Given the description of an element on the screen output the (x, y) to click on. 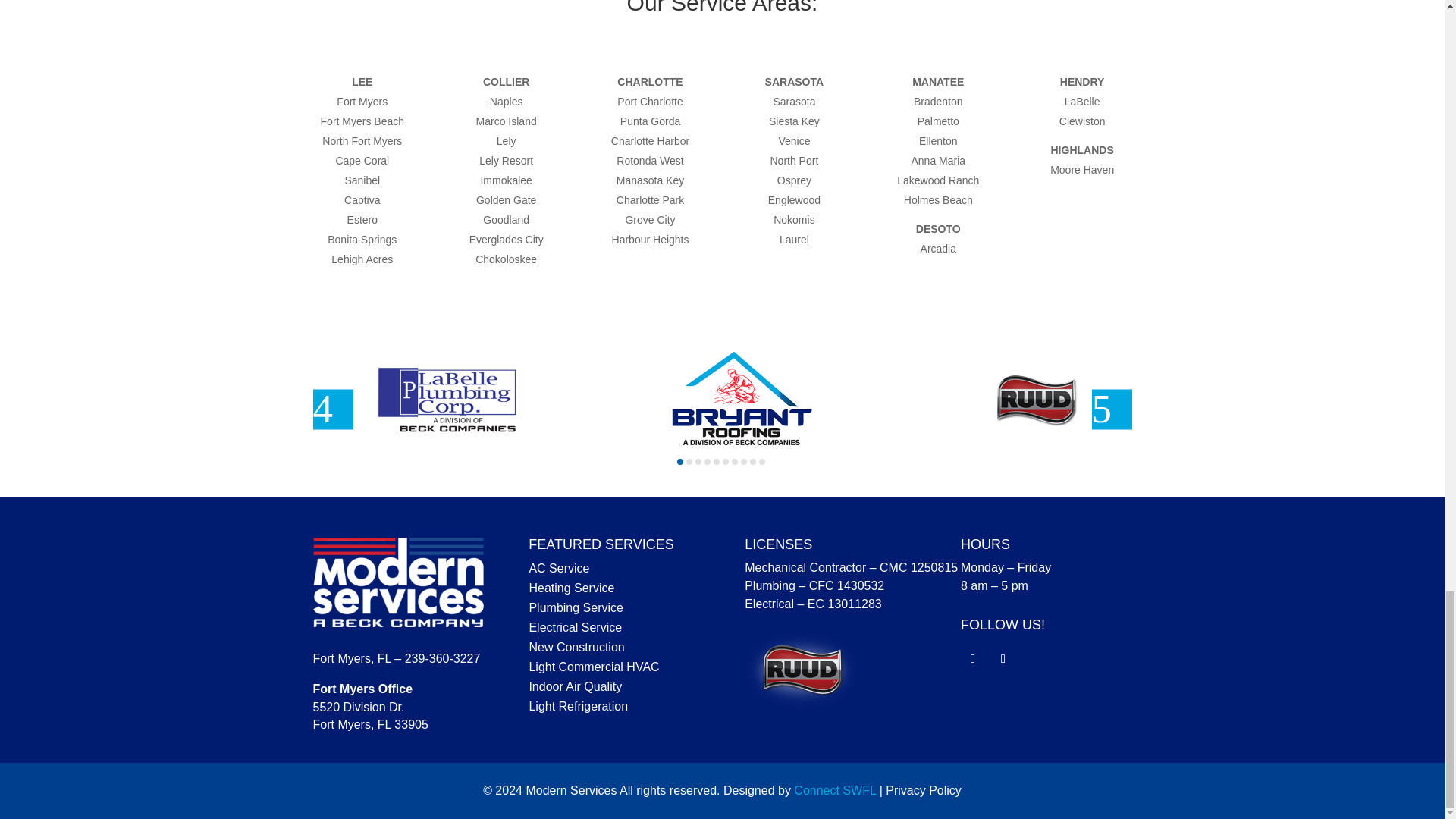
Follow on Instagram (1002, 658)
Follow on Facebook (972, 658)
